Given the description of an element on the screen output the (x, y) to click on. 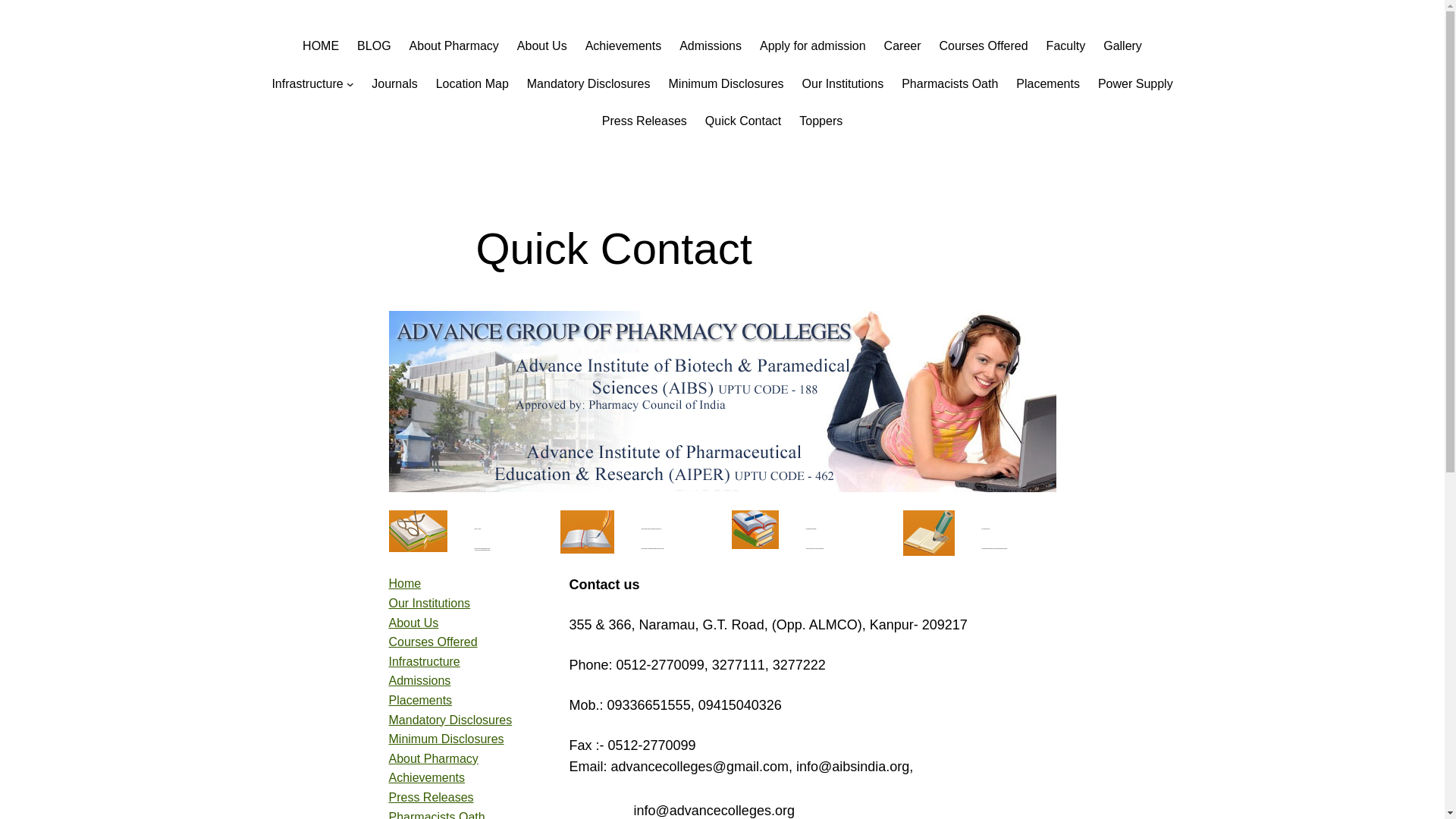
Faculty (1066, 46)
Quick Contact (742, 121)
Admissions (418, 680)
Placements (1048, 84)
Power Supply (1135, 84)
Journals (393, 84)
About Us (413, 622)
Courses Offered (983, 46)
Apply for admission (813, 46)
Gallery (1122, 46)
